Given the description of an element on the screen output the (x, y) to click on. 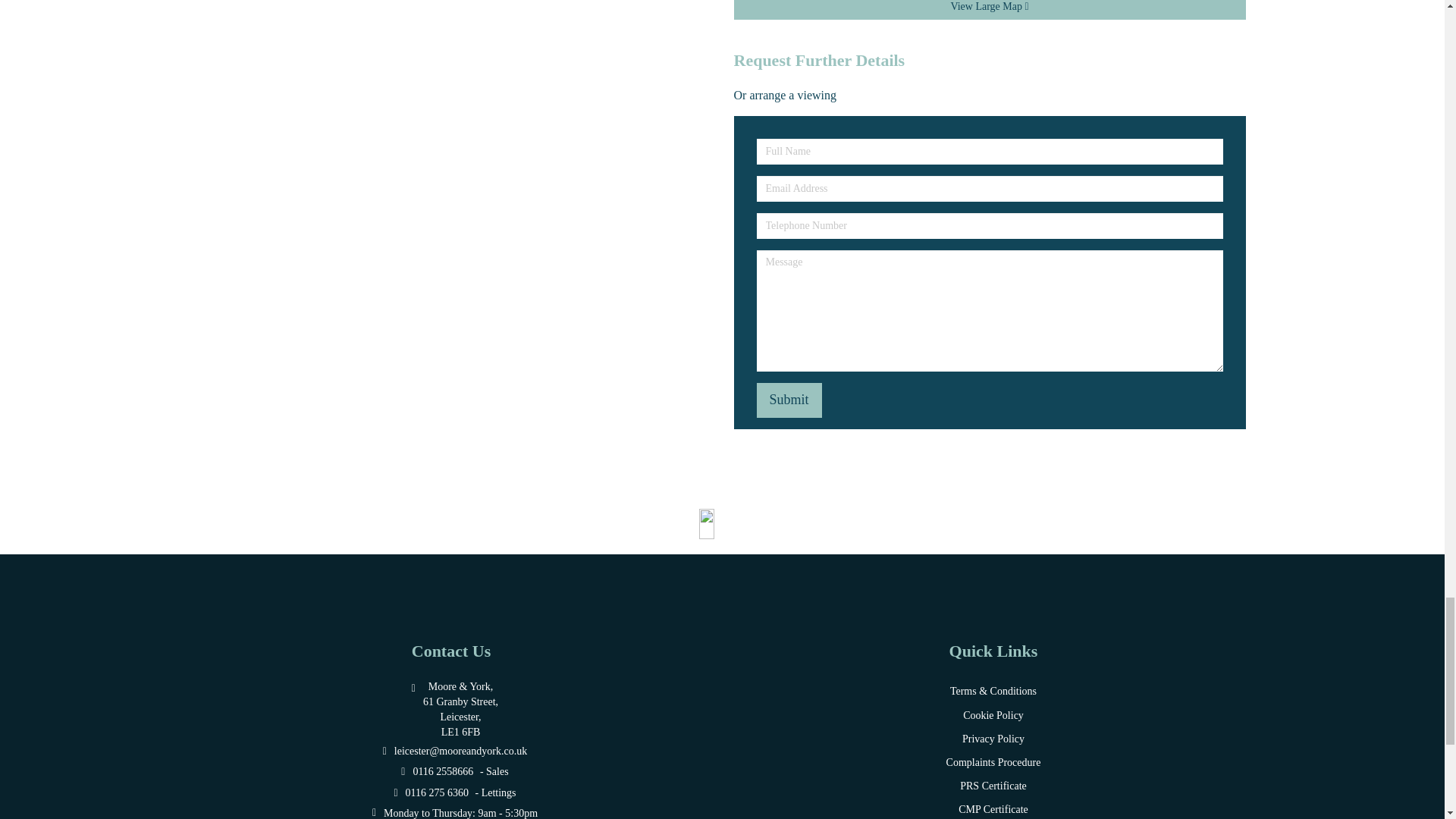
Submit (789, 400)
